Given the description of an element on the screen output the (x, y) to click on. 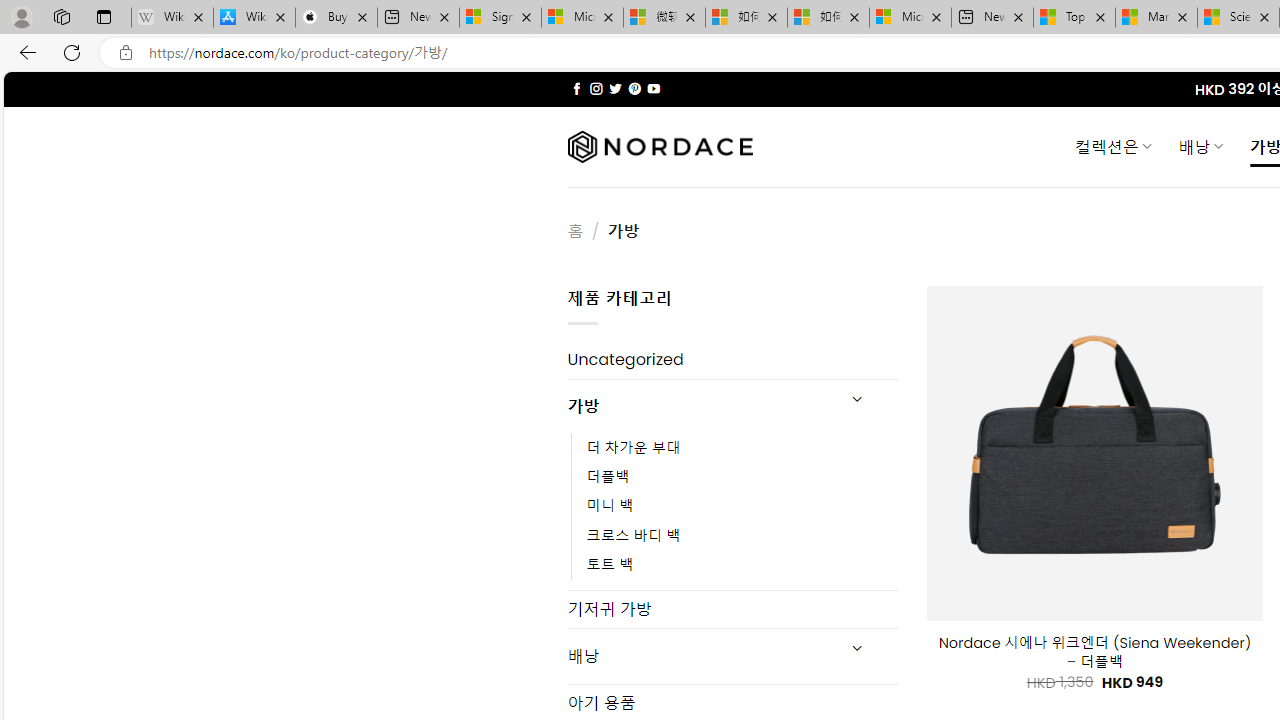
Uncategorized (732, 359)
Follow on Facebook (576, 88)
Sign in to your Microsoft account (500, 17)
